Given the description of an element on the screen output the (x, y) to click on. 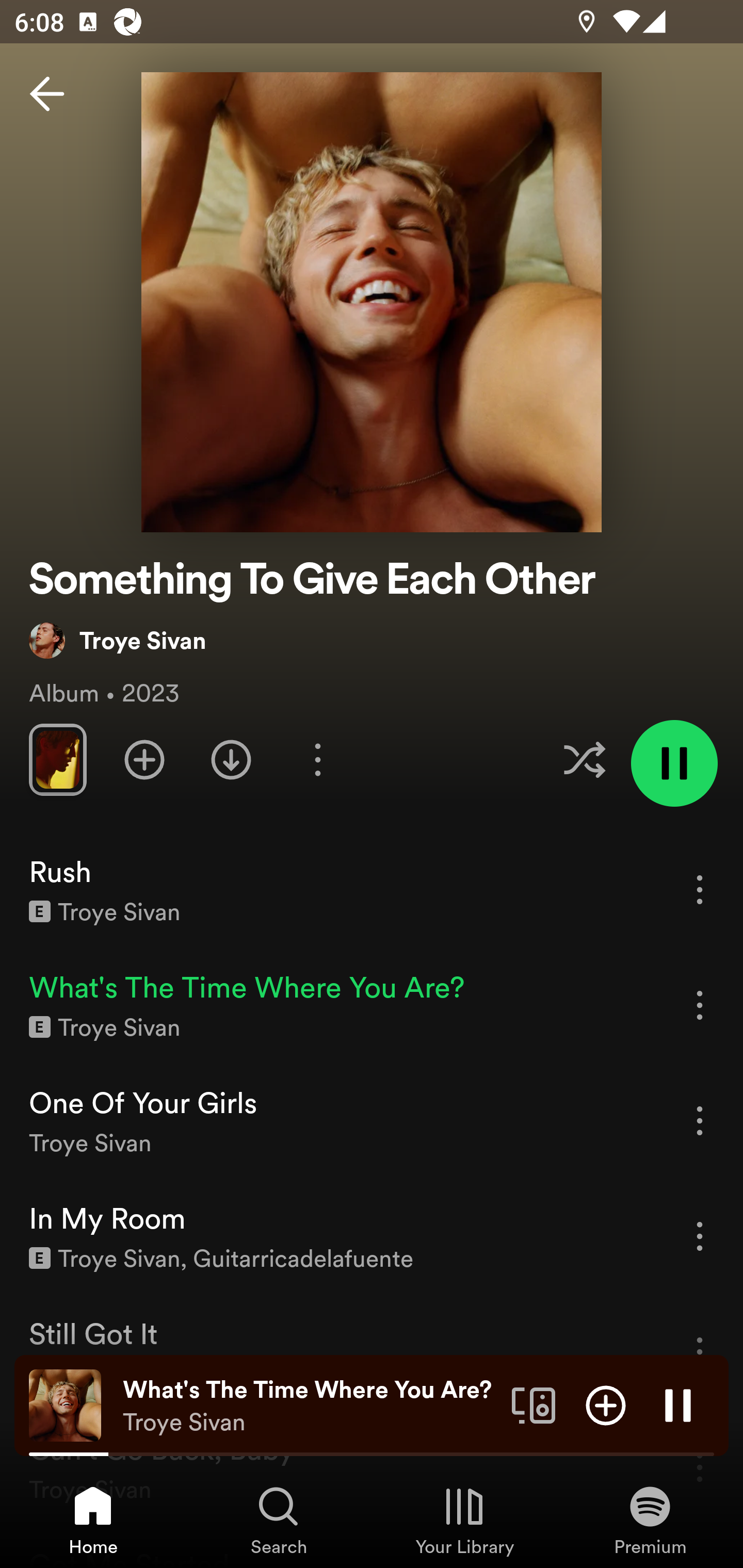
Back (46, 93)
Troye Sivan (117, 640)
Add playlist to Your Library (144, 759)
Download (230, 759)
Enable shuffle for this playlist (583, 759)
Pause playlist (674, 763)
More options for song Rush (699, 889)
More options for song One Of Your Girls (699, 1120)
More options for song In My Room (699, 1236)
What's The Time Where You Are? Troye Sivan (309, 1405)
The cover art of the currently playing track (64, 1404)
Connect to a device. Opens the devices menu (533, 1404)
Add item (605, 1404)
Pause (677, 1404)
Home, Tab 1 of 4 Home Home (92, 1519)
Search, Tab 2 of 4 Search Search (278, 1519)
Your Library, Tab 3 of 4 Your Library Your Library (464, 1519)
Premium, Tab 4 of 4 Premium Premium (650, 1519)
